Given the description of an element on the screen output the (x, y) to click on. 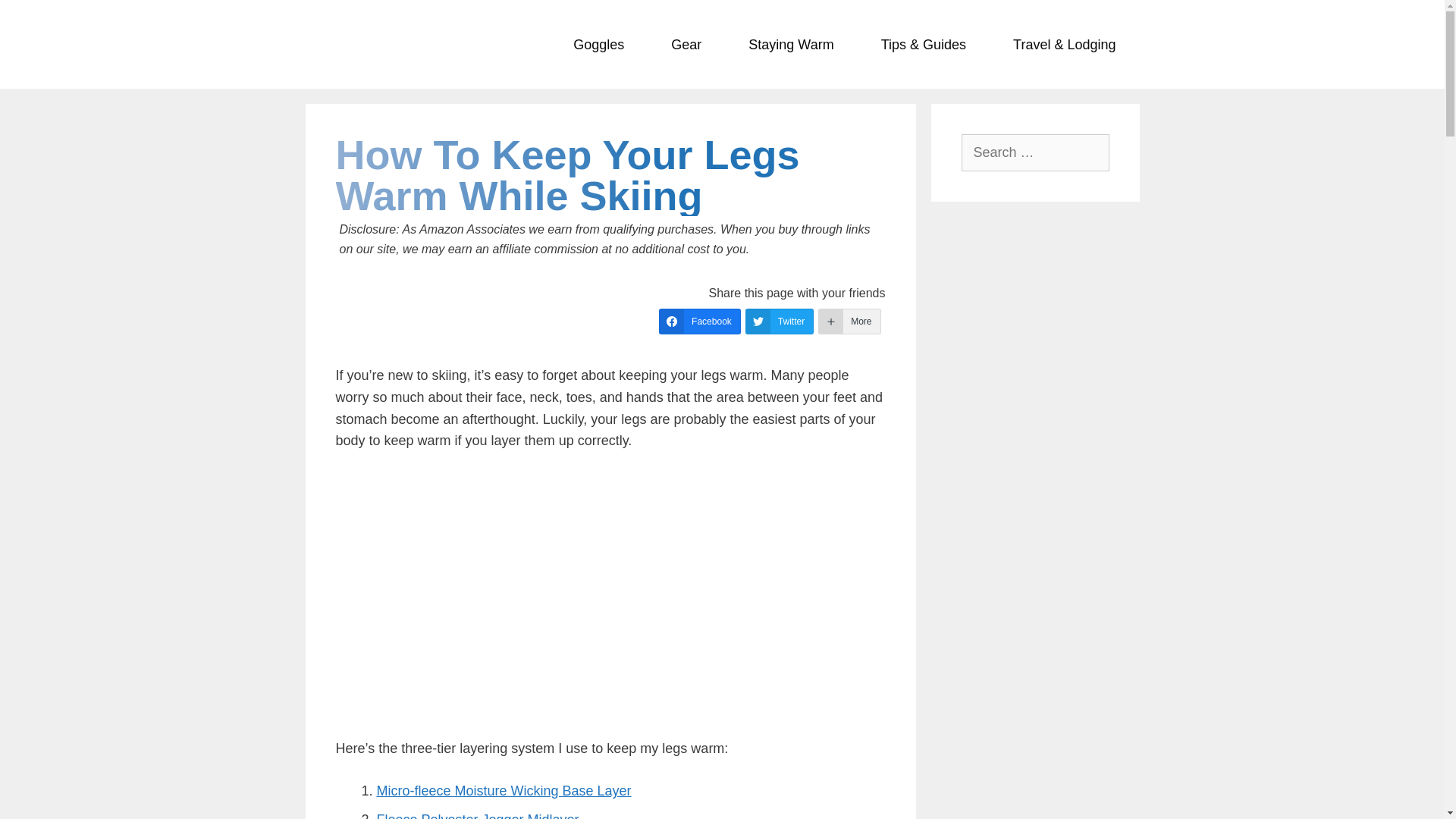
Goggles (598, 44)
More (849, 321)
two people with skis looking over a mountain (609, 591)
Fleece Polyester Jogger Midlayer (476, 815)
Search (37, 18)
Staying Warm (791, 44)
Twitter (779, 321)
Facebook (700, 321)
Micro-fleece Moisture Wicking Base Layer (502, 790)
Gear (686, 44)
